Given the description of an element on the screen output the (x, y) to click on. 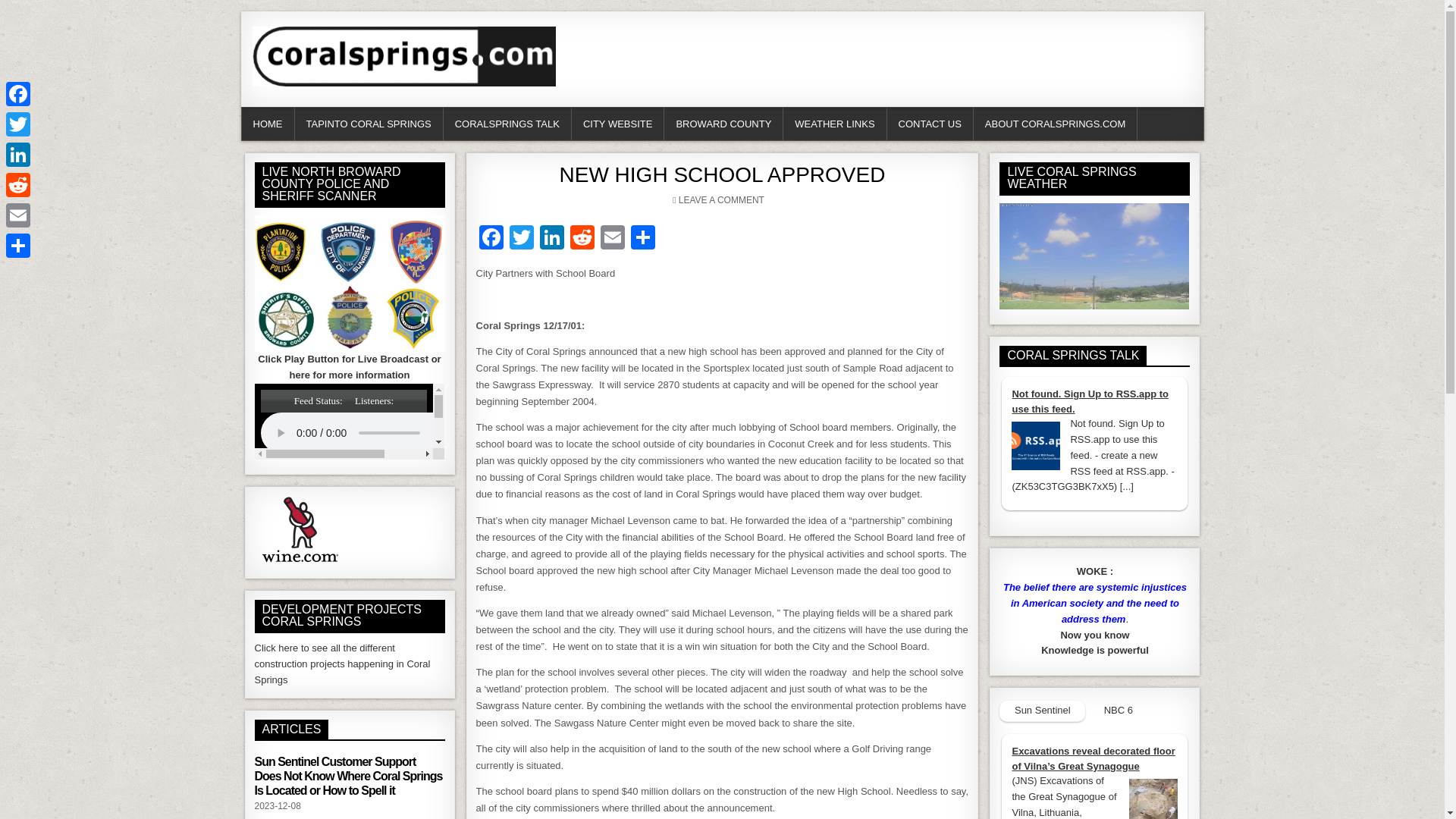
Email (611, 239)
NEW HIGH SCHOOL APPROVED (722, 174)
LEAVE A COMMENT (721, 199)
TAPINTO CORAL SPRINGS (368, 123)
Share (642, 239)
Reddit (581, 239)
Twitter (521, 239)
LinkedIn (552, 239)
Facebook (491, 239)
Reddit (581, 239)
Facebook (491, 239)
HOME (267, 123)
ABOUT CORALSPRINGS.COM (1055, 123)
Twitter (521, 239)
Email (611, 239)
